Given the description of an element on the screen output the (x, y) to click on. 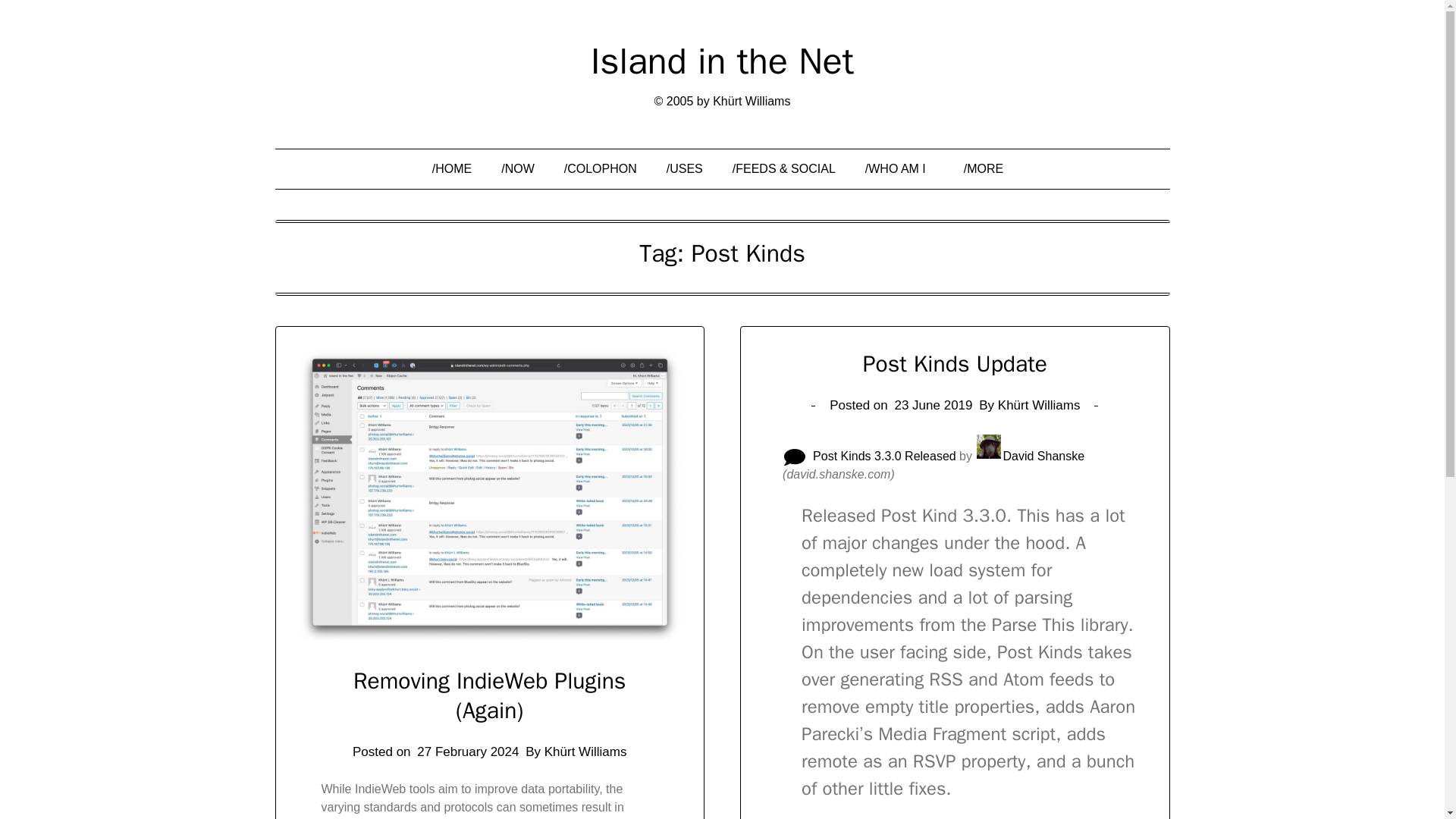
Island in the Net (721, 61)
23 June 2019 (932, 405)
Post Kinds Update (954, 363)
Post Kinds 3.3.0 Released (884, 455)
Reply (794, 451)
27 February 2024 (467, 751)
David Shanske (1029, 455)
